Given the description of an element on the screen output the (x, y) to click on. 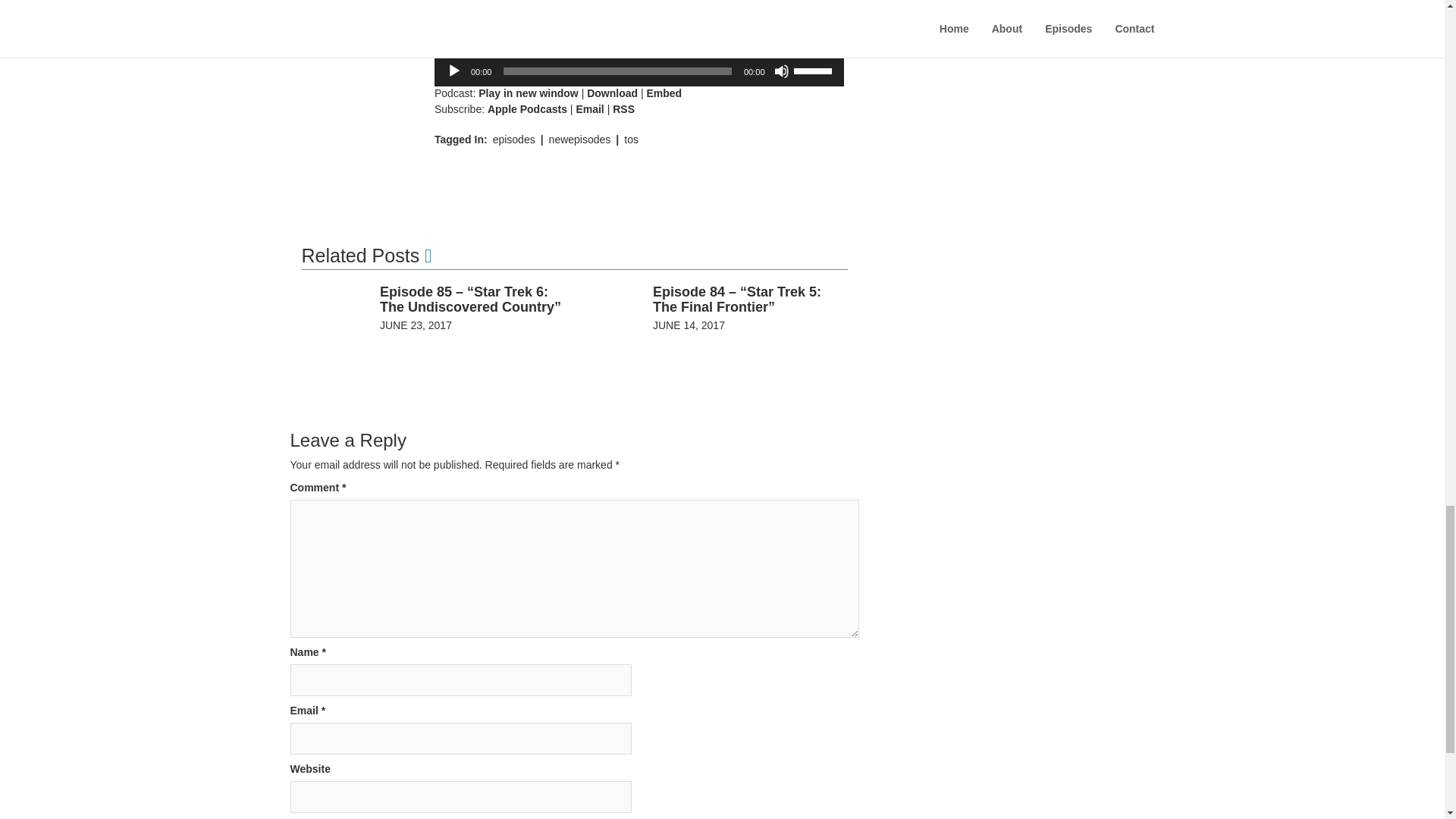
Download (611, 92)
Play in new window (528, 92)
Download (611, 92)
Embed (663, 92)
Play (453, 70)
Subscribe on Apple Podcasts (527, 109)
newepisodes (579, 139)
Play in new window (528, 92)
RSS (623, 109)
tos (630, 139)
Subscribe by Email (589, 109)
Subscribe via RSS (623, 109)
Email (589, 109)
Embed (663, 92)
episodes (513, 139)
